Given the description of an element on the screen output the (x, y) to click on. 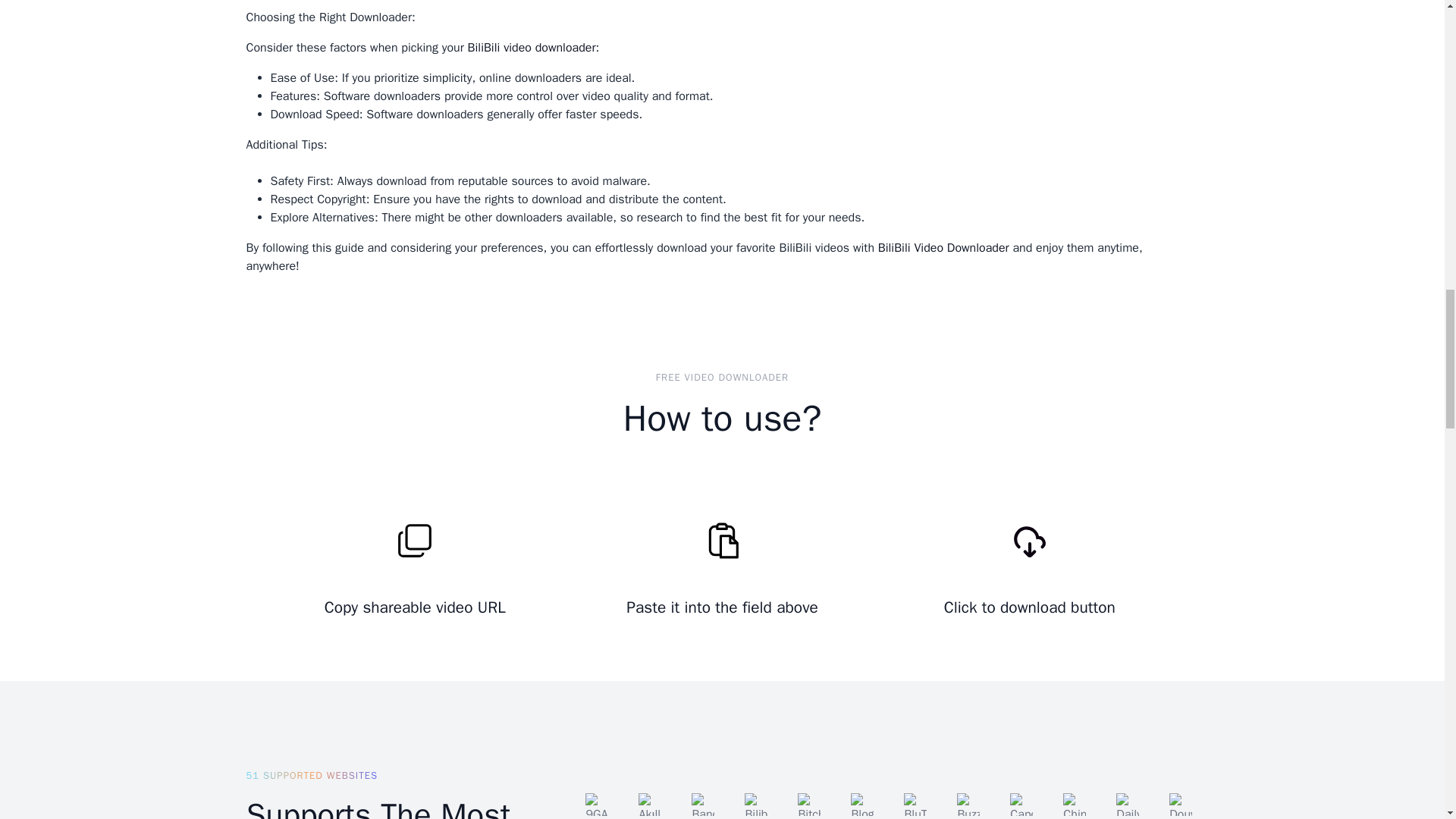
Bandcamp (702, 804)
Bilibili (755, 804)
Blogger (861, 804)
BiliBili Video Downloader (943, 247)
9GAG (596, 804)
Buzzfeed (967, 804)
BiliBili video downloader (531, 47)
Capcut (1021, 804)
Bitchute (809, 804)
BluTV (915, 804)
